Given the description of an element on the screen output the (x, y) to click on. 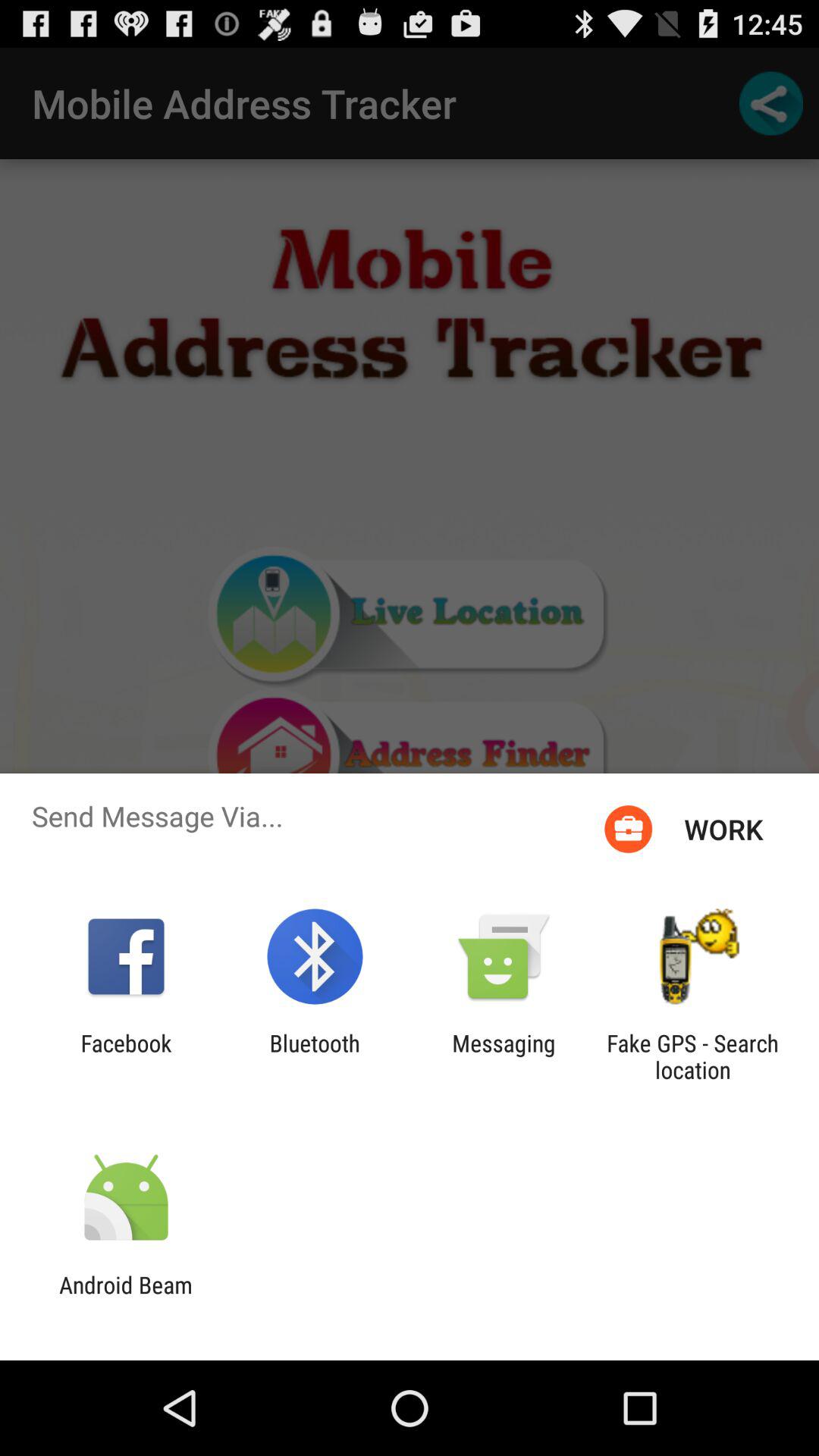
select item to the right of messaging item (692, 1056)
